Given the description of an element on the screen output the (x, y) to click on. 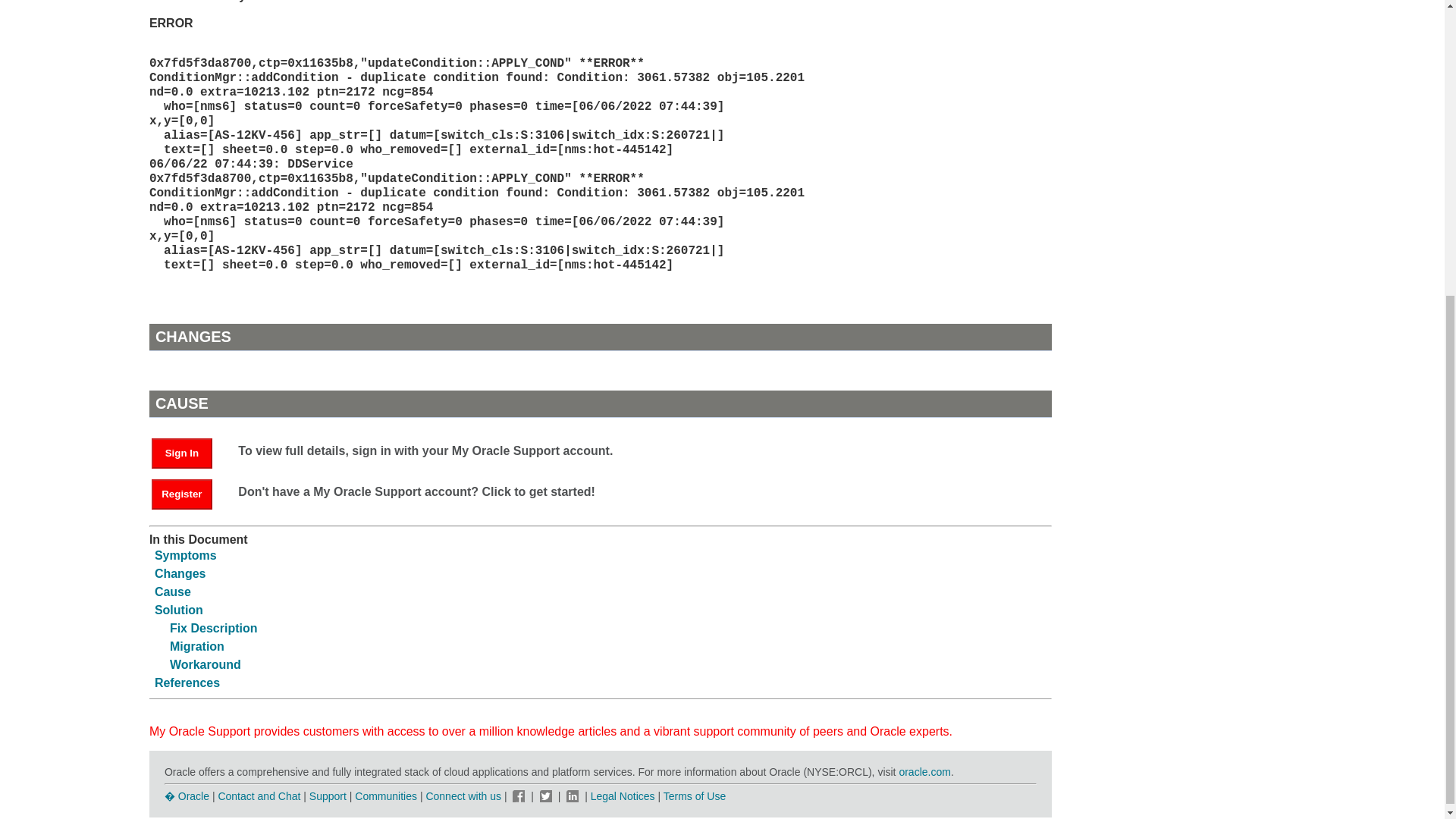
Legal Notices (623, 796)
Support (327, 796)
Terms of Use (694, 796)
oracle.com (924, 771)
Workaround (205, 664)
oracle.com (924, 771)
References (186, 682)
Connect with us (464, 796)
Register (189, 492)
Fix Description (213, 627)
Sign In (181, 453)
Communities (385, 796)
Contact and Chat (257, 796)
Changes (180, 573)
Register (181, 494)
